Given the description of an element on the screen output the (x, y) to click on. 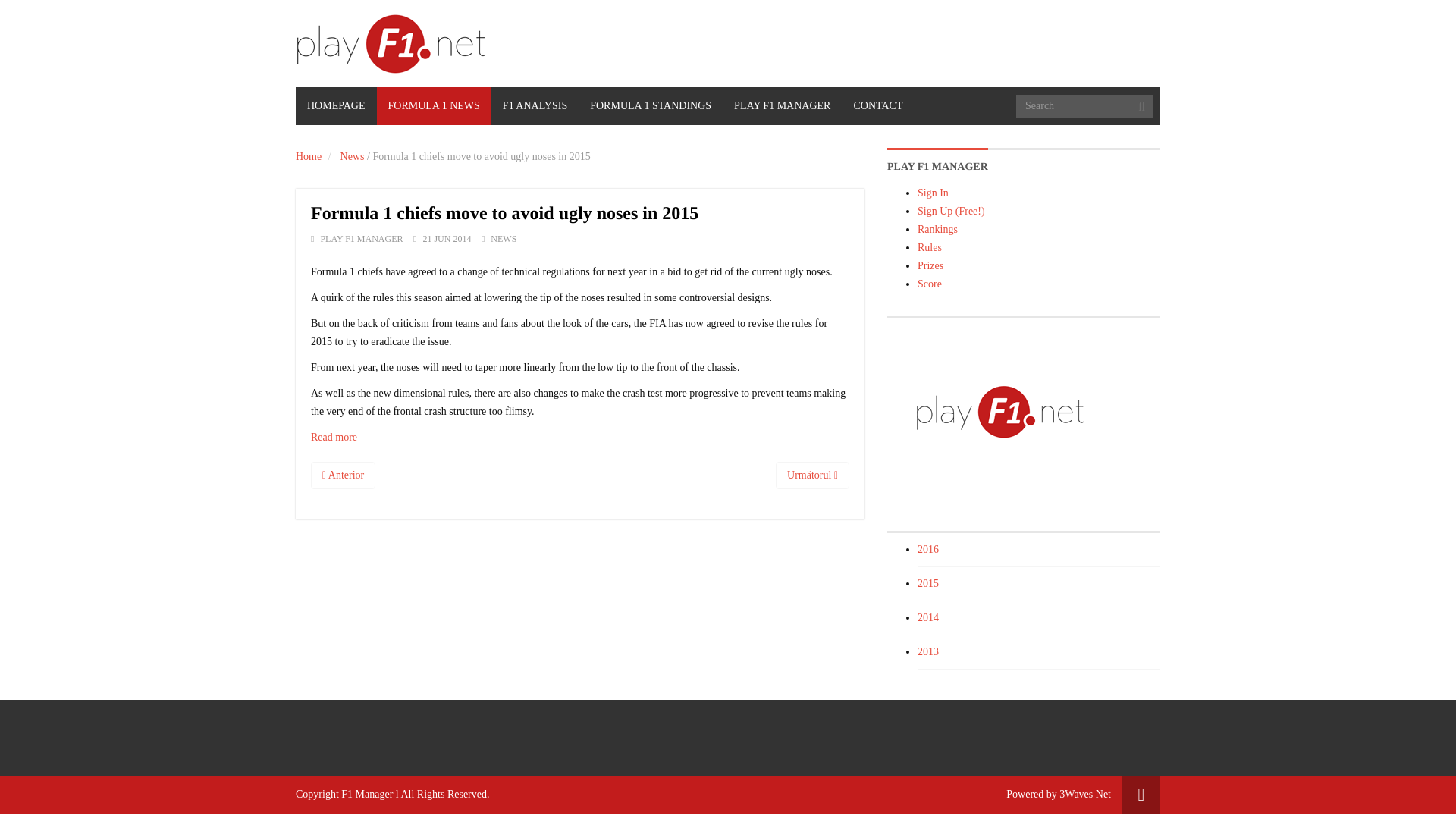
3Waves Responsive WordPress Themes (1084, 794)
News (352, 156)
Sign In (933, 193)
Sign In (933, 193)
CONTACT (877, 105)
Rules (929, 247)
F1 Manager (366, 794)
Rankings (937, 229)
F1 ANALYSIS (535, 105)
3Waves Net (1084, 794)
